Given the description of an element on the screen output the (x, y) to click on. 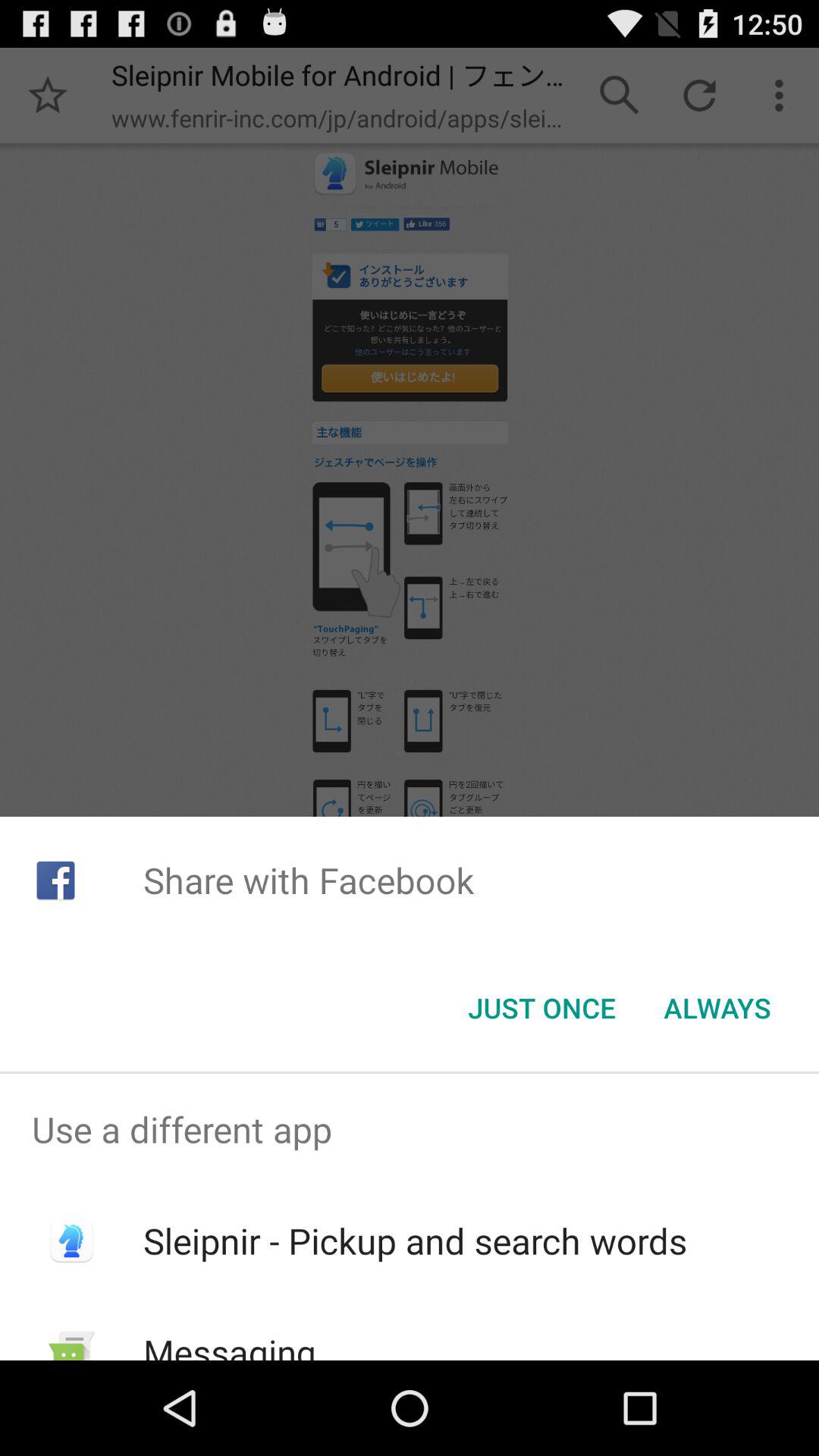
turn off the button next to just once icon (717, 1007)
